Given the description of an element on the screen output the (x, y) to click on. 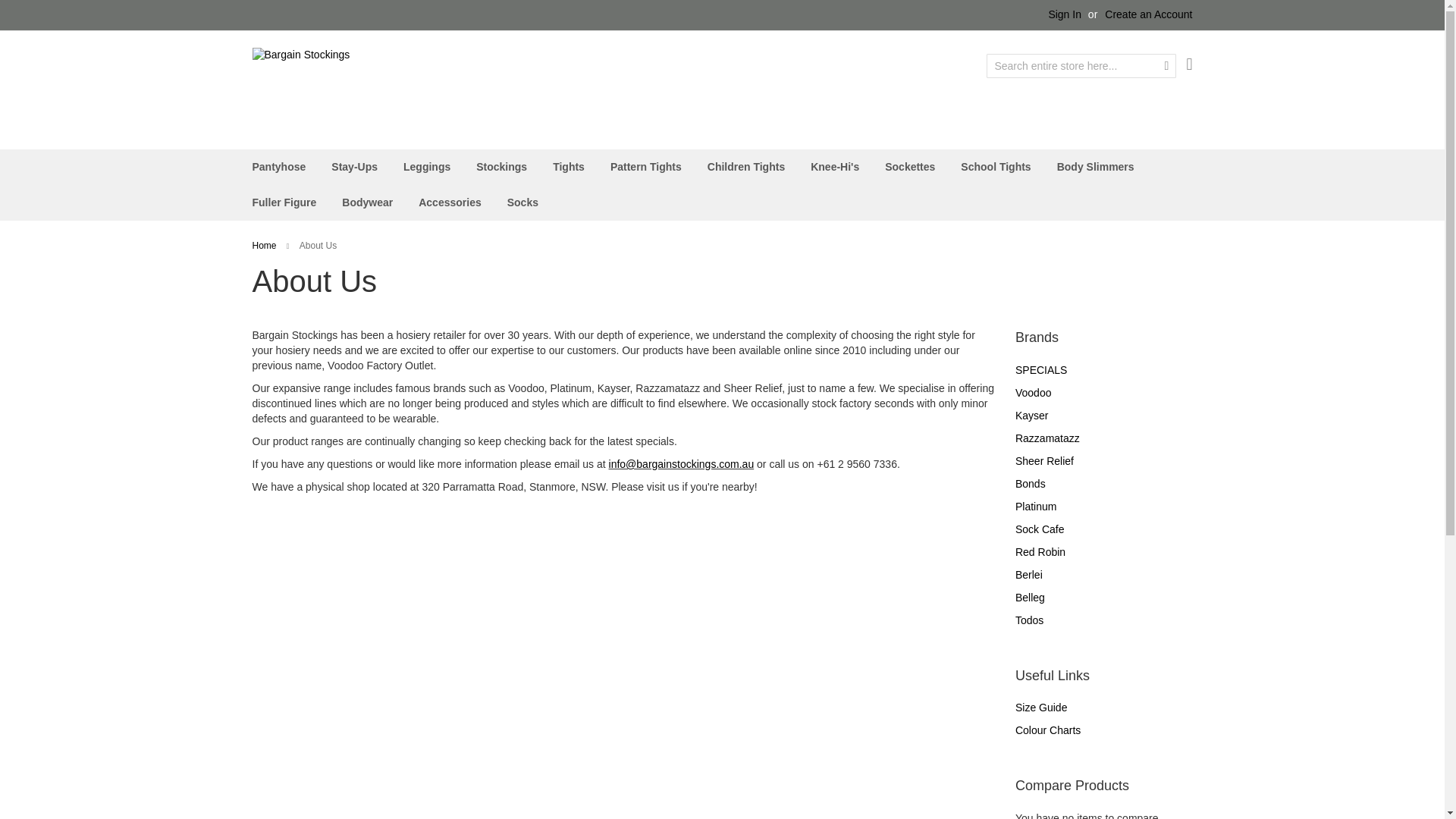
Red Robin (1039, 551)
Todos (1028, 620)
Kayser (1031, 415)
Sign In (1064, 14)
Sock Cafe (1039, 529)
Razzamatazz (1047, 438)
Sheer Relief (1044, 460)
Kayser (1031, 415)
Tights (568, 167)
Red Robin (1039, 551)
